Given the description of an element on the screen output the (x, y) to click on. 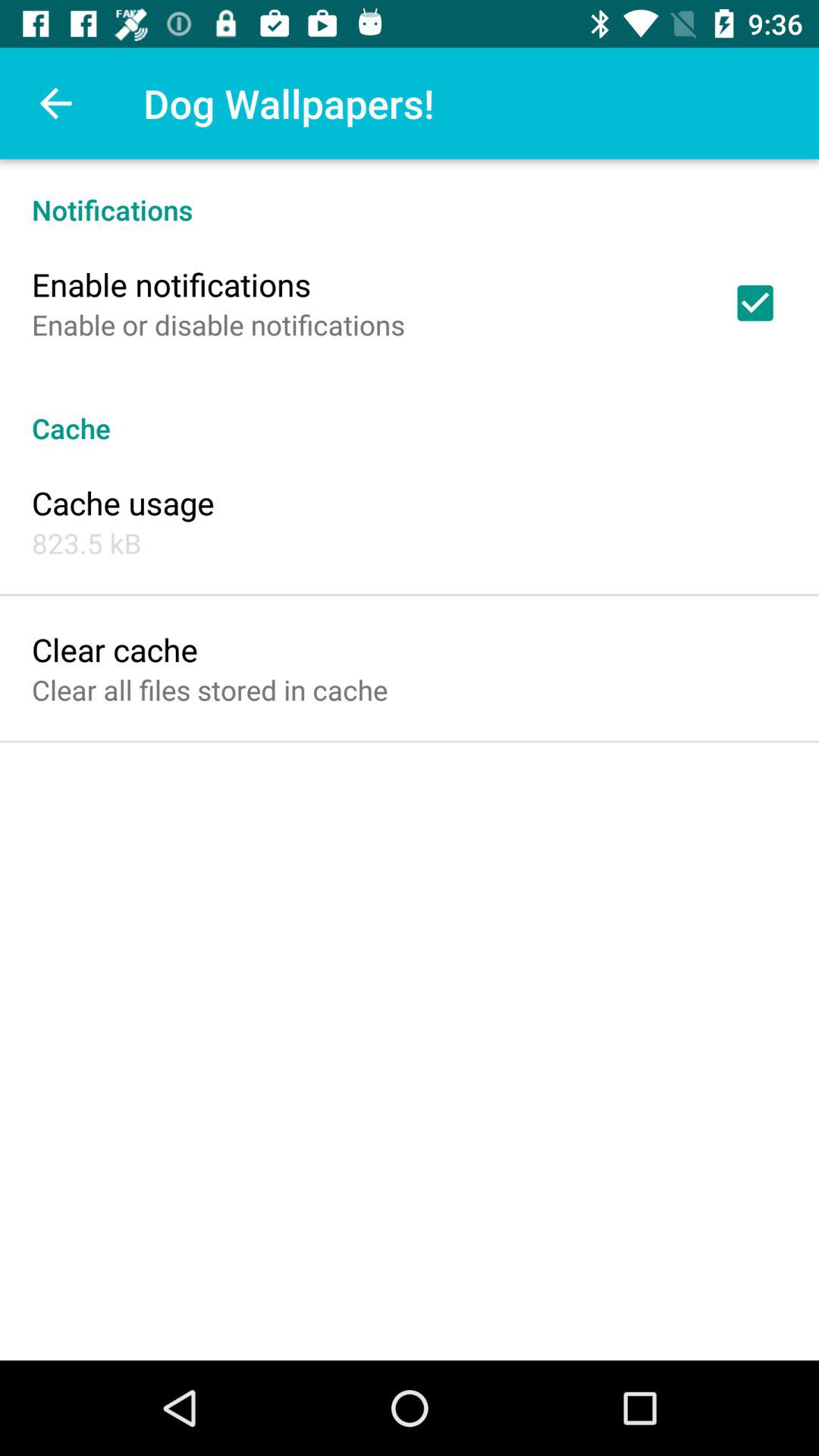
press item above 823.5 kb icon (122, 502)
